Given the description of an element on the screen output the (x, y) to click on. 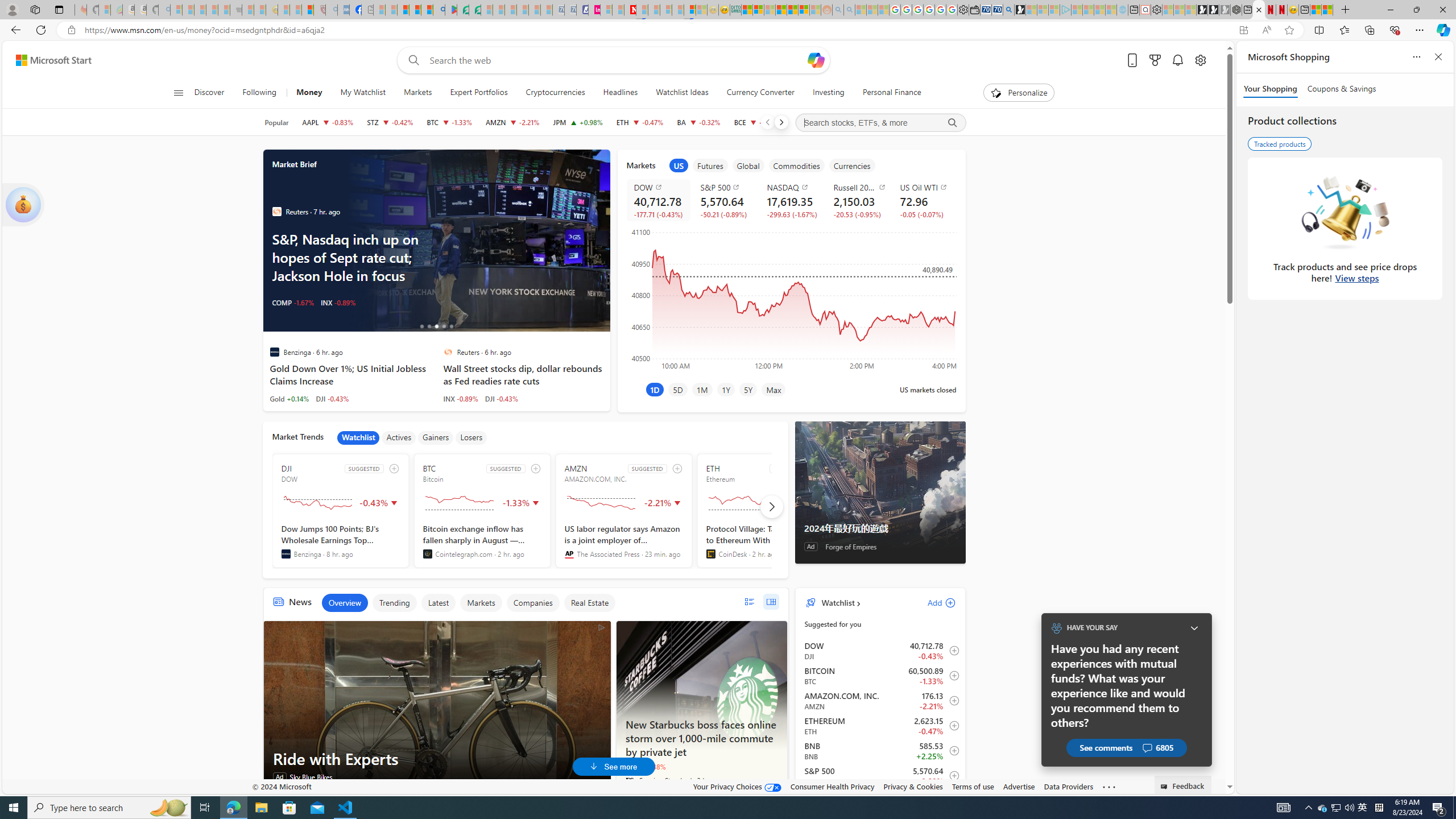
Watchlist (358, 437)
DOW (660, 187)
Data Providers (1068, 786)
Jobs - lastminute.com Investor Portal (594, 9)
BTC Bitcoin decrease 60,500.89 -806.48 -1.33% item1 (880, 675)
NASDAQ COMP decrease 17,619.35 -299.63 -1.67% (791, 200)
Watchlist Ideas (682, 92)
